Given the description of an element on the screen output the (x, y) to click on. 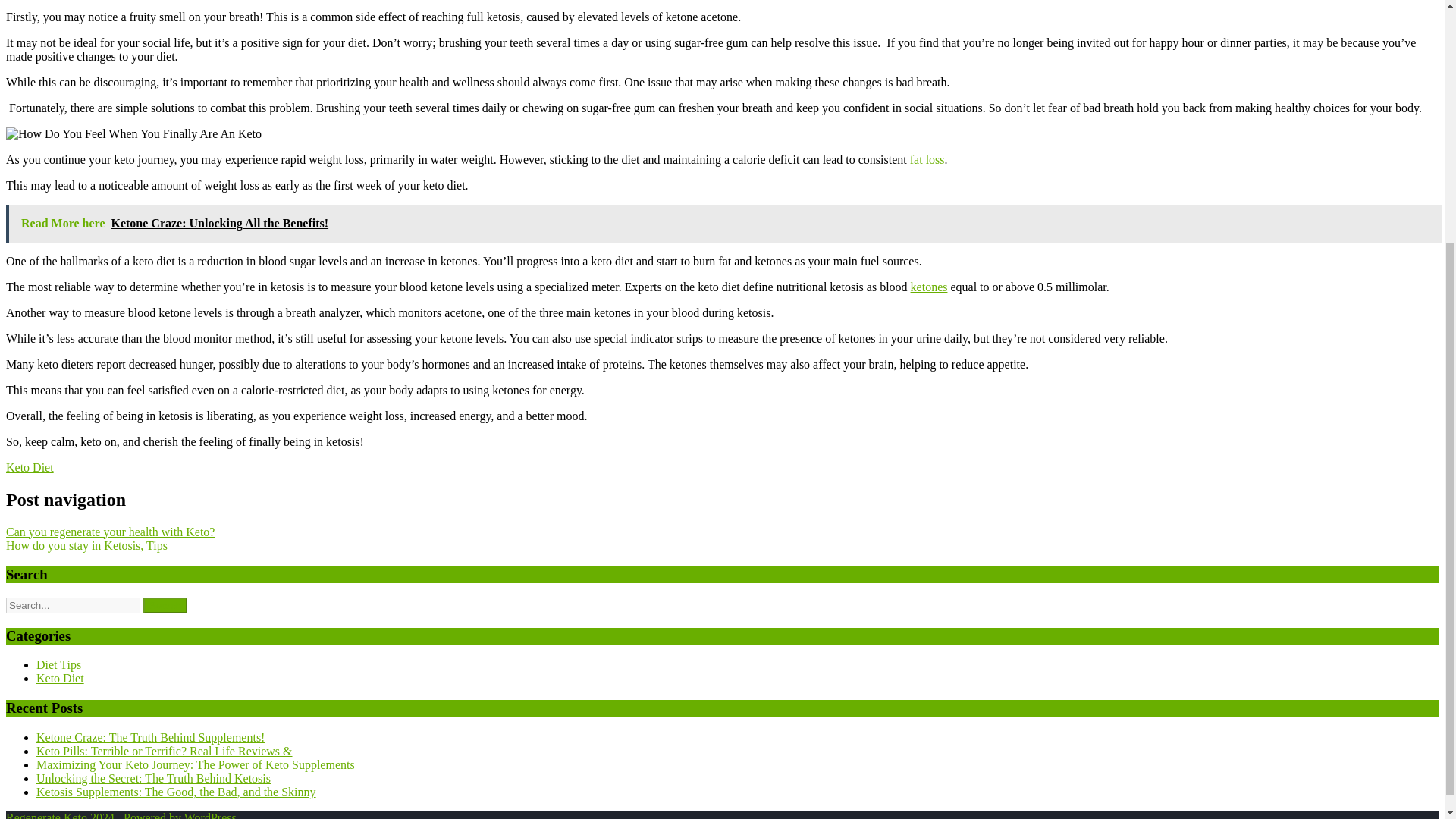
Ketosis Supplements: The Good, the Bad, and the Skinny (175, 791)
Can you regenerate your health with Keto? (109, 531)
Unlocking the Secret: The Truth Behind Ketosis (153, 778)
Keto Diet (60, 677)
Maximizing Your Keto Journey: The Power of Keto Supplements (195, 764)
fat loss (927, 159)
Search (164, 605)
Ketone Craze: The Truth Behind Supplements! (150, 737)
Search (164, 605)
How do you stay in Ketosis, Tips (86, 545)
